Given the description of an element on the screen output the (x, y) to click on. 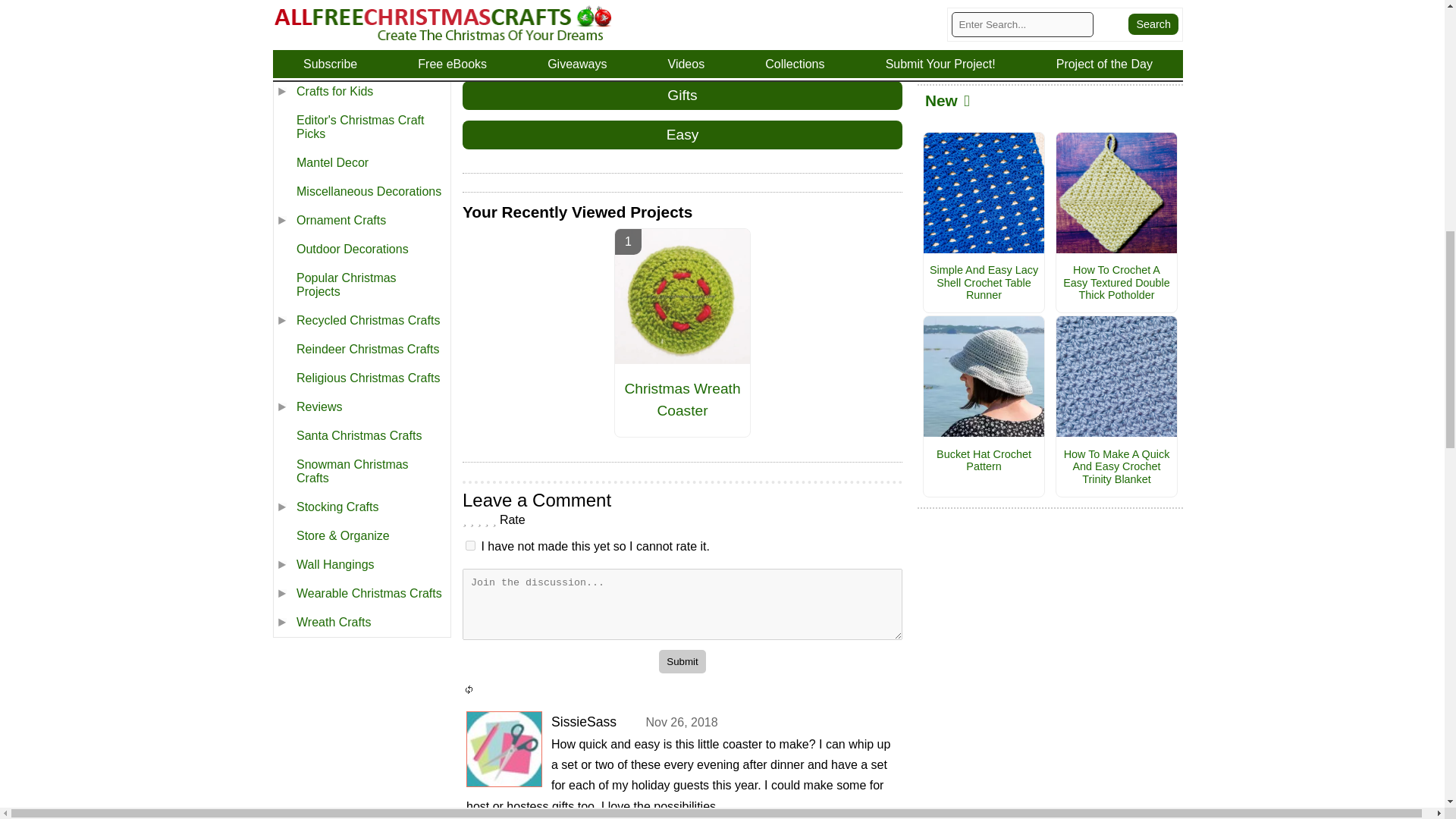
Submit (681, 661)
1 (470, 545)
